Given the description of an element on the screen output the (x, y) to click on. 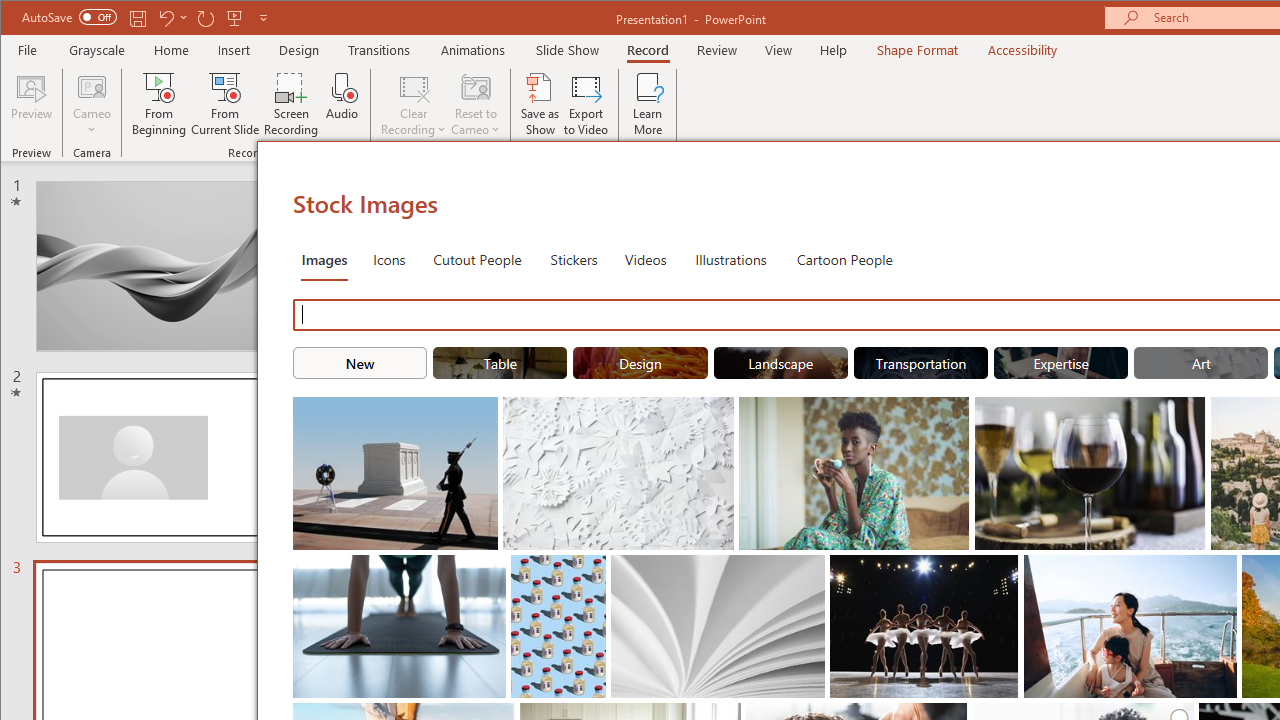
Thumbnail (1221, 569)
Cutout People (477, 258)
Images (324, 258)
"Design" Stock Images. (640, 362)
"New" Stock Images. (360, 362)
